Given the description of an element on the screen output the (x, y) to click on. 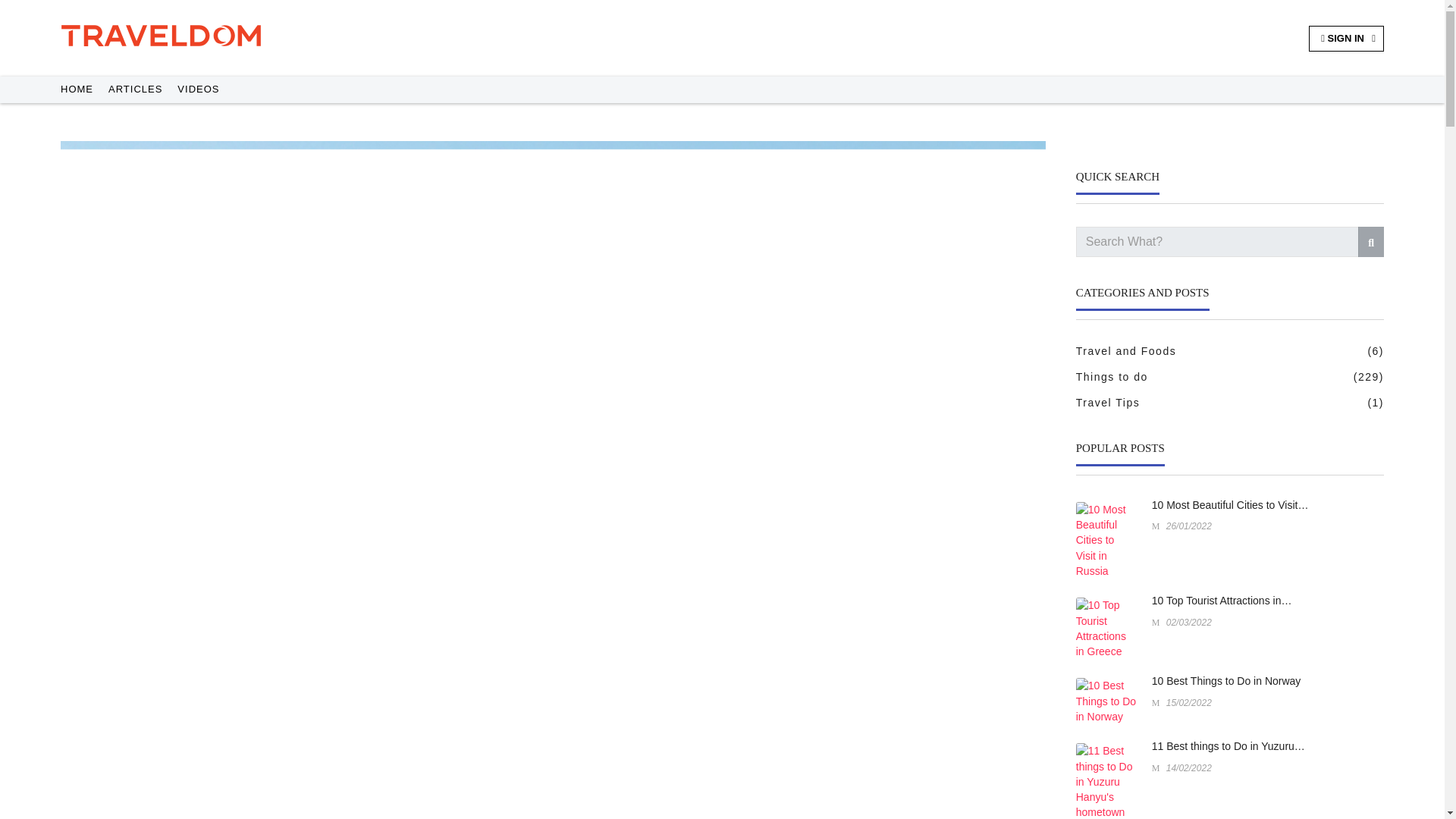
HOME (77, 89)
ARTICLES (134, 89)
home (77, 89)
SIGN IN (1346, 38)
VIDEOS (198, 89)
